Given the description of an element on the screen output the (x, y) to click on. 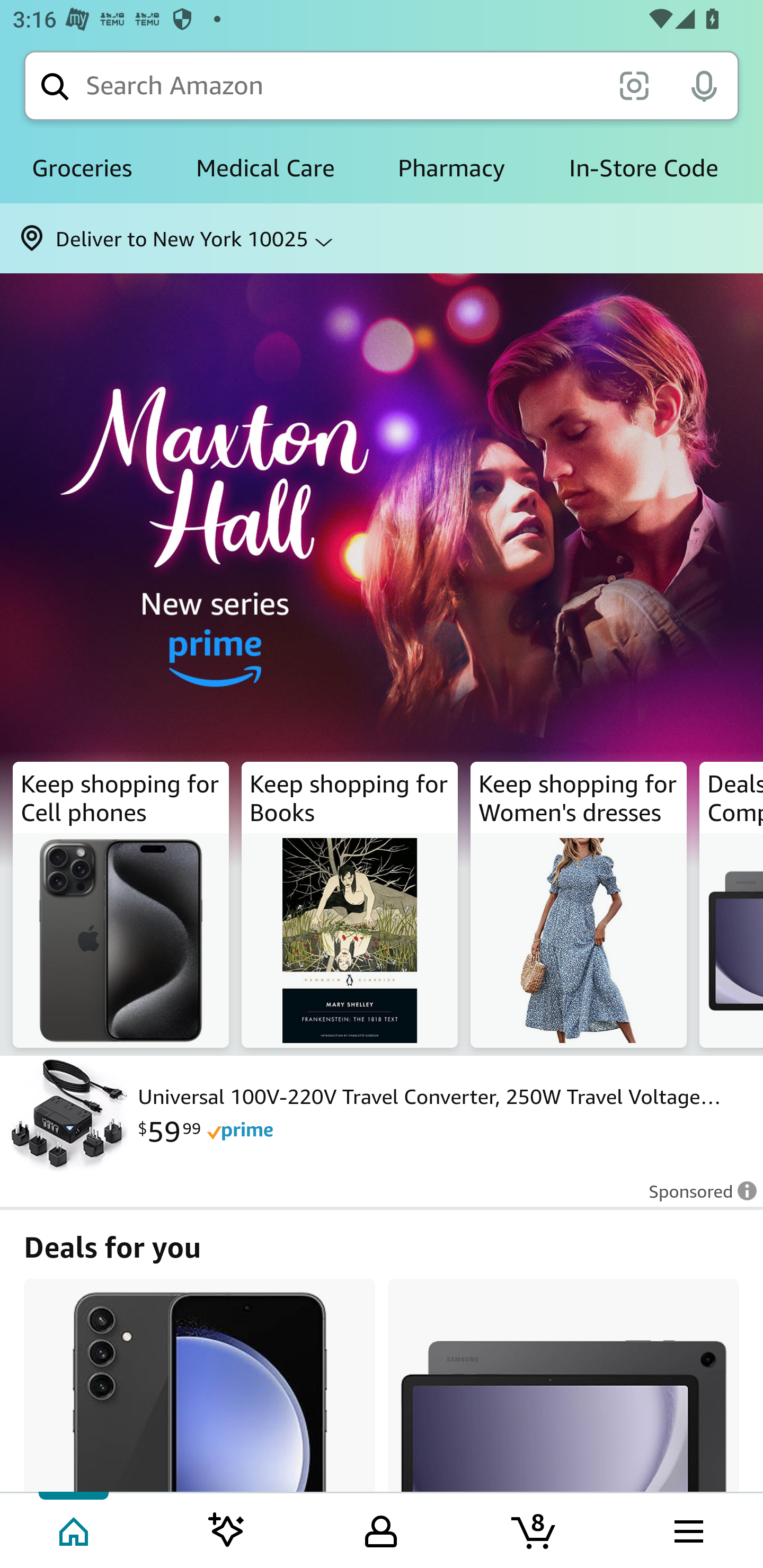
scan it (633, 85)
Groceries (82, 168)
Medical Care (265, 168)
Pharmacy (451, 168)
In-Store Code (643, 168)
Deliver to New York 10025 ⌵ (381, 237)
Keep shopping for Books Keep shopping for Books (349, 904)
Leave feedback on Sponsored ad Sponsored  (696, 1196)
Home Tab 1 of 5 (75, 1529)
Inspire feed Tab 2 of 5 (227, 1529)
Your Amazon.com Tab 3 of 5 (380, 1529)
Cart 8 items Tab 4 of 5 8 (534, 1529)
Browse menu Tab 5 of 5 (687, 1529)
